Given the description of an element on the screen output the (x, y) to click on. 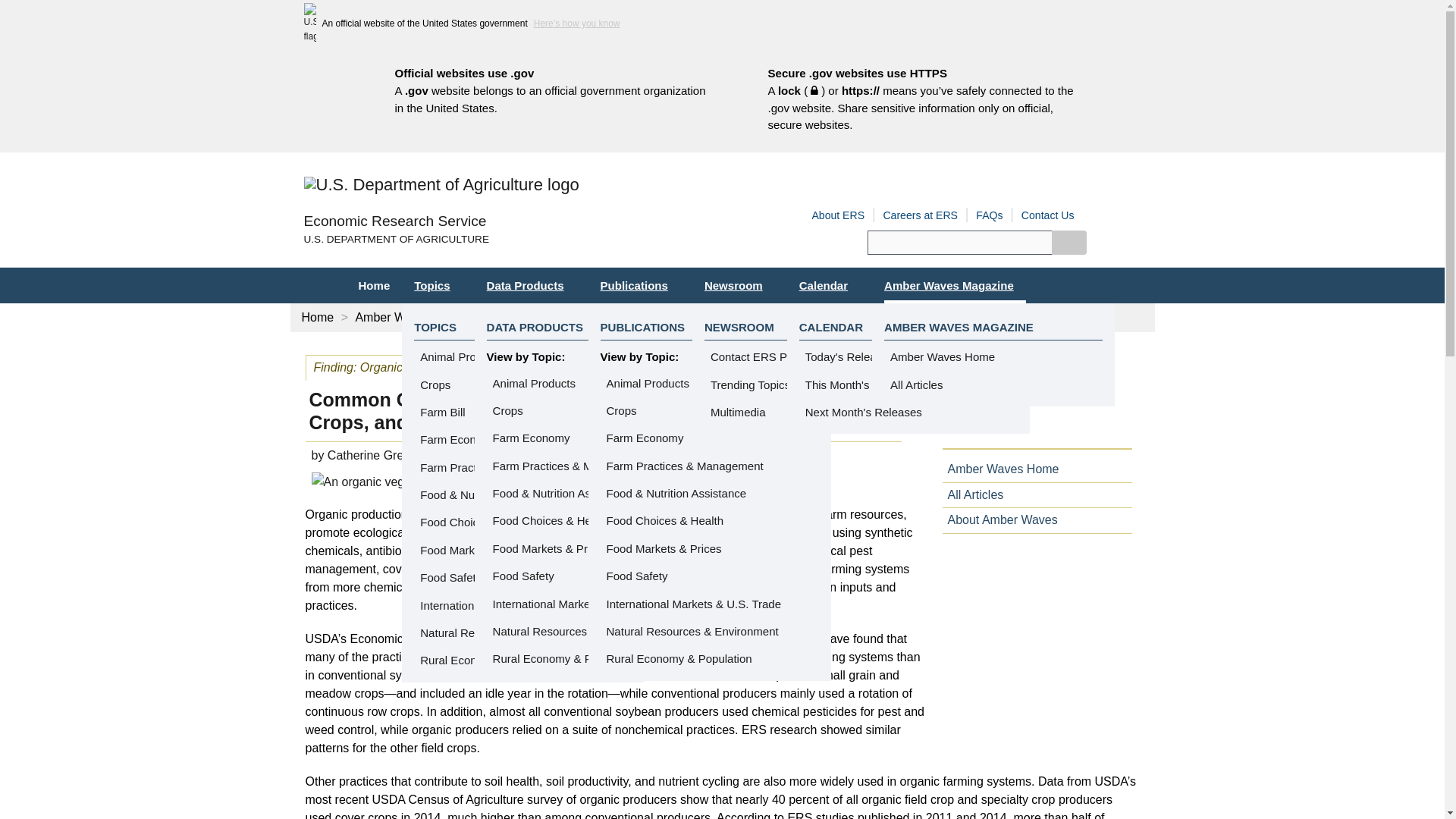
Home (373, 285)
Farm Economy (531, 437)
Animal Products (534, 383)
PUBLICATIONS (642, 326)
Topics (437, 285)
Crops (622, 410)
Crops (507, 410)
Food Safety (523, 575)
U.S. DEPARTMENT OF AGRICULTURE (512, 239)
Home (394, 220)
